Given the description of an element on the screen output the (x, y) to click on. 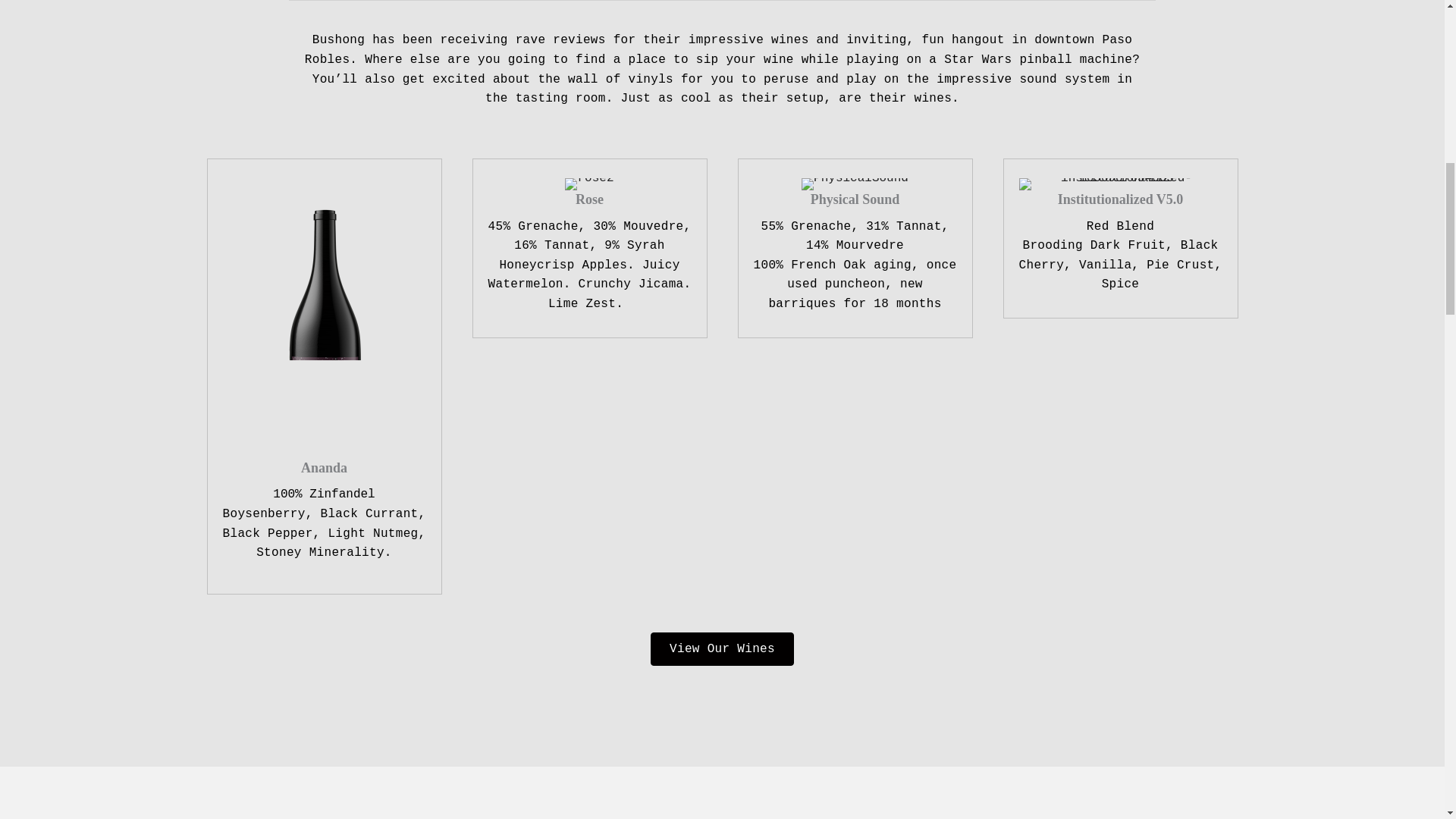
rose2 (588, 184)
institutionalized-1650987654605 (1121, 184)
PhysicalSound (855, 184)
View Our Wines (721, 648)
